Given the description of an element on the screen output the (x, y) to click on. 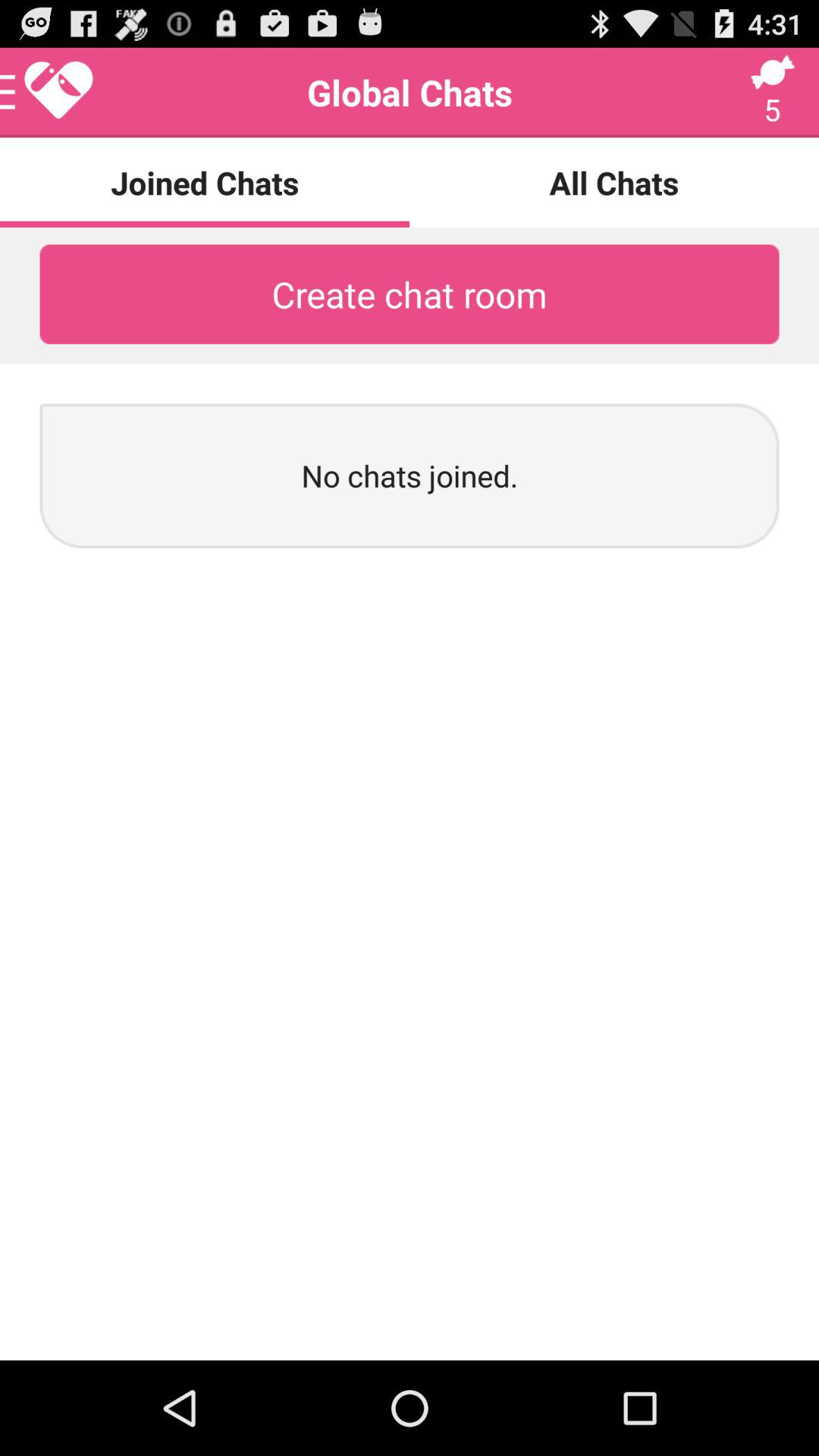
launch the all chats (614, 182)
